Given the description of an element on the screen output the (x, y) to click on. 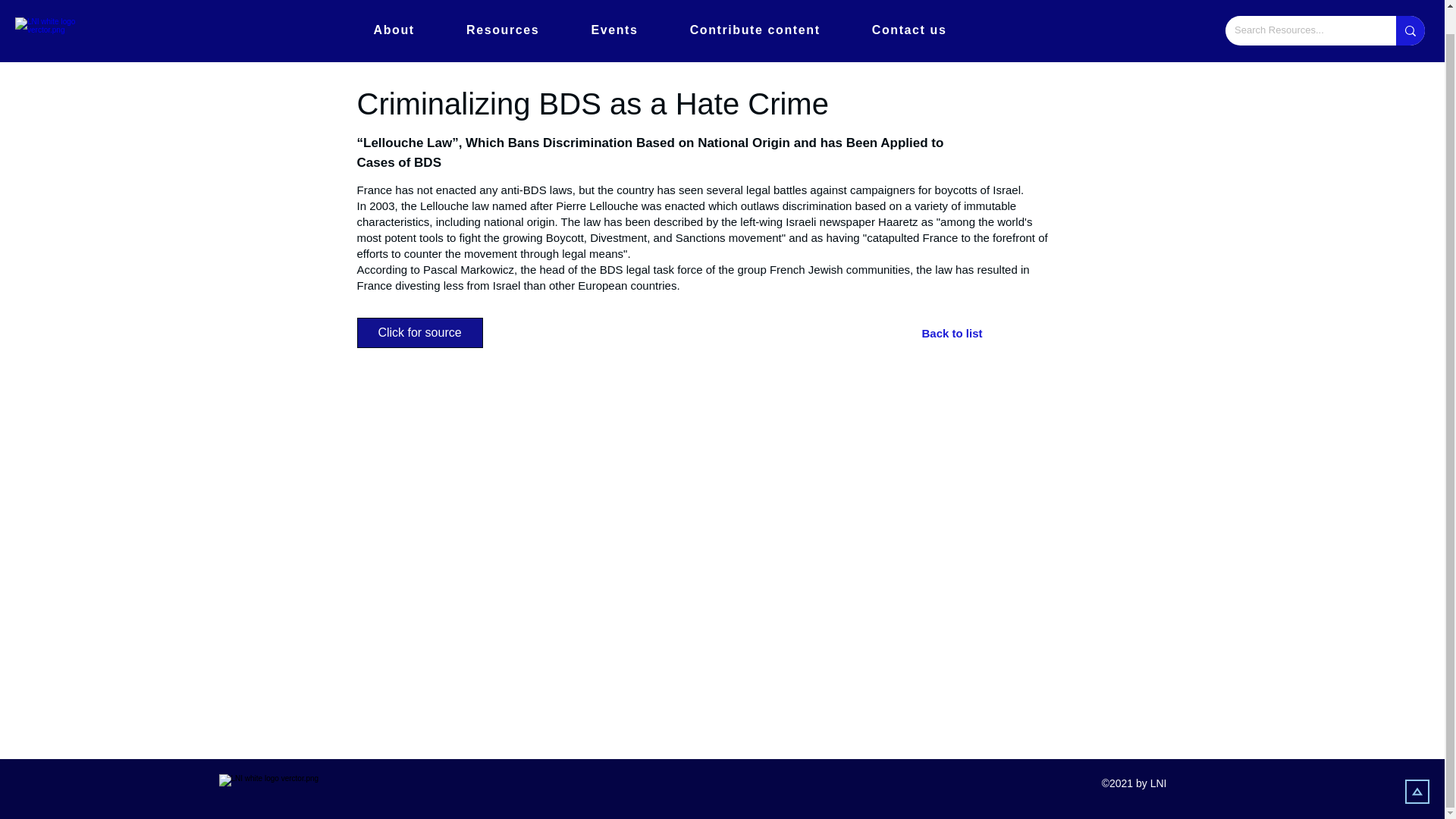
Contact us (908, 10)
Back to list (975, 332)
About (393, 10)
Events (614, 10)
Click for source (418, 332)
Contribute content (754, 10)
Resources (503, 10)
